Given the description of an element on the screen output the (x, y) to click on. 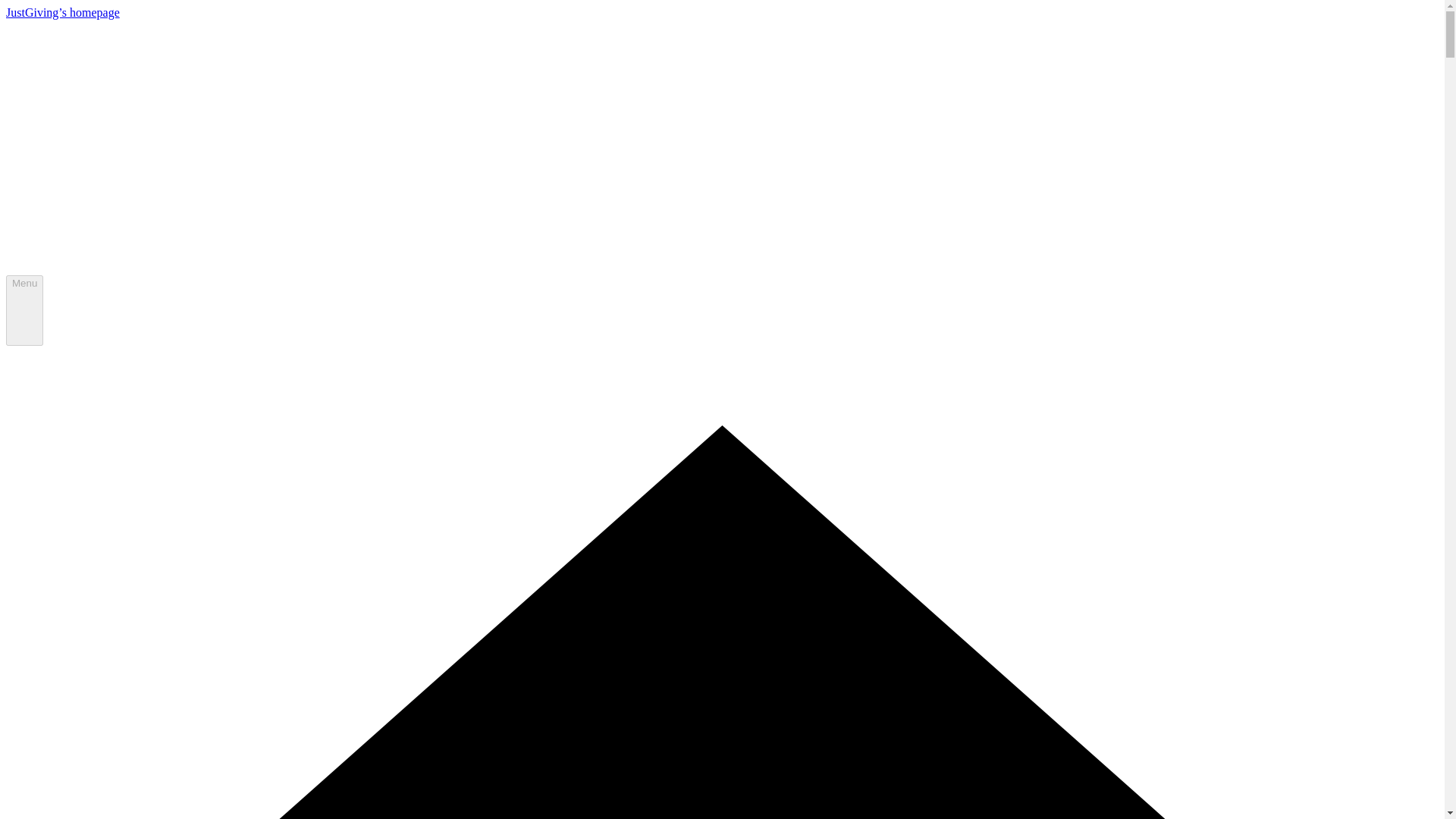
Menu (24, 310)
